Given the description of an element on the screen output the (x, y) to click on. 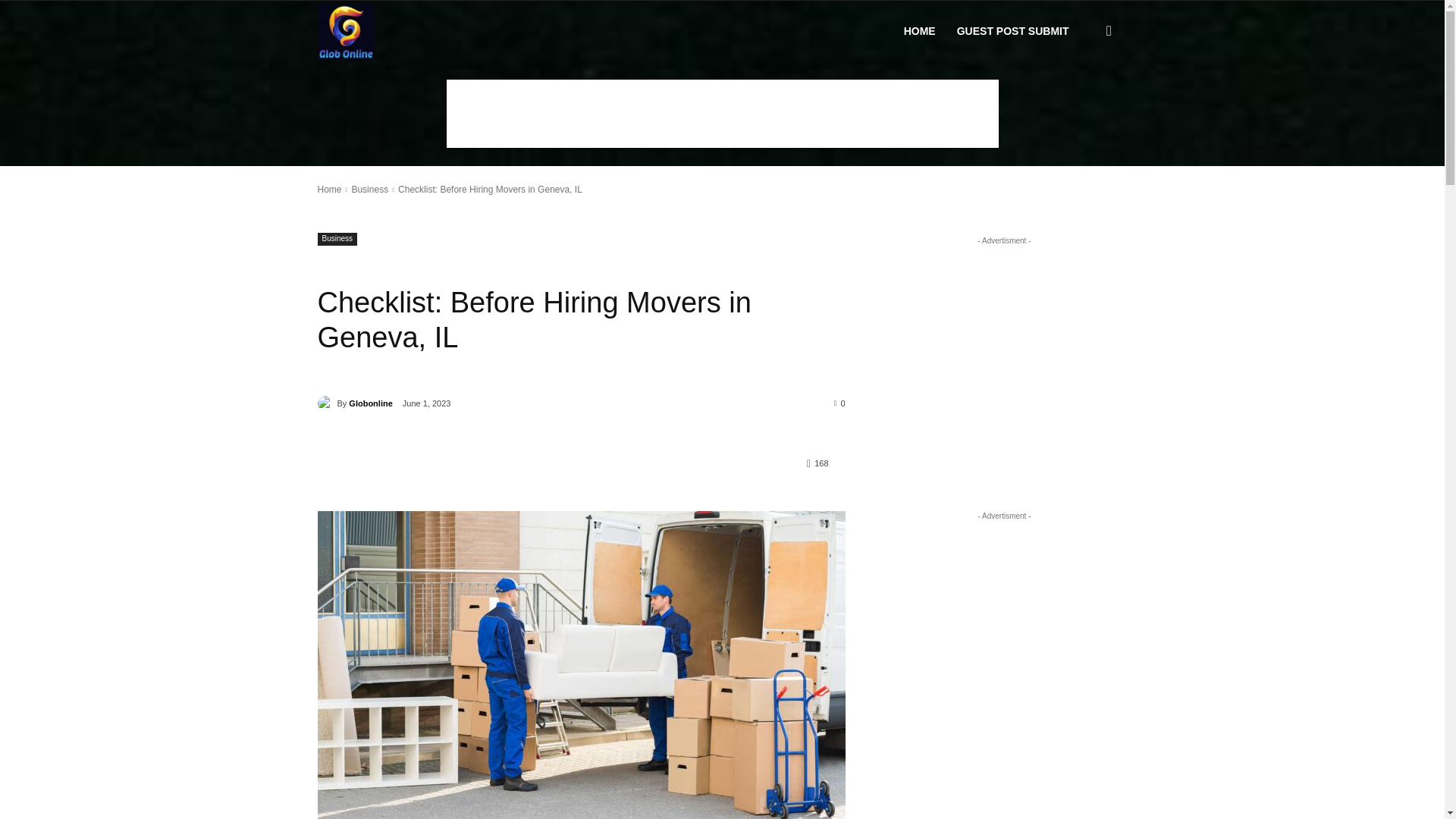
Business (336, 238)
Search (1085, 103)
Globonline (345, 31)
Business (369, 189)
GUEST POST SUBMIT (1013, 30)
Advertisement (721, 113)
Home (328, 189)
Globonline (345, 31)
Globonline (326, 403)
View all posts in Business (369, 189)
